Given the description of an element on the screen output the (x, y) to click on. 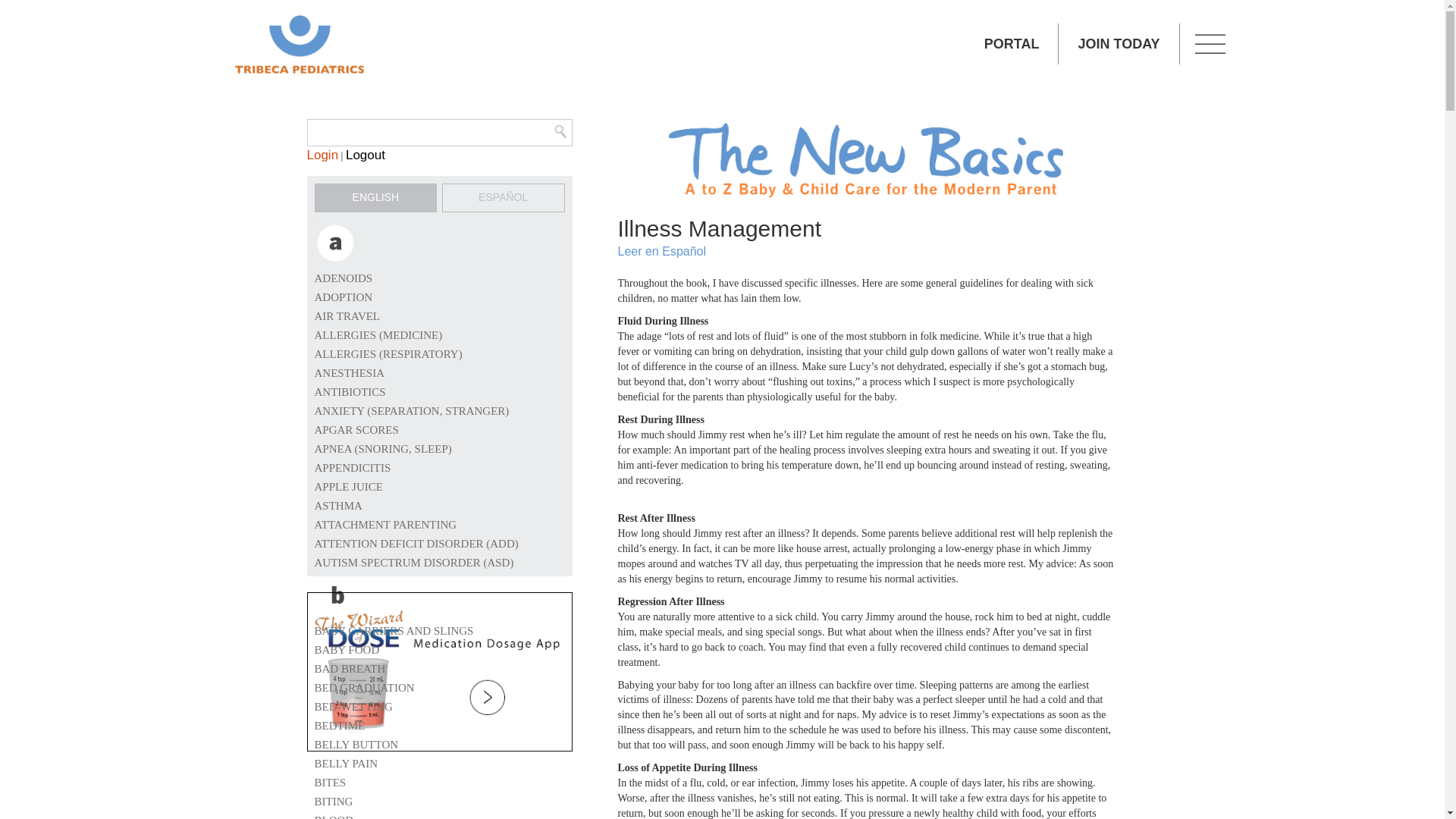
Login (321, 155)
APPENDICITIS (352, 467)
ENGLISH (375, 197)
ANESTHESIA (349, 372)
Tribeca Pediatrics (298, 43)
APGAR SCORES (355, 429)
ANTIBIOTICS (349, 391)
ADOPTION (343, 297)
PORTAL (1012, 43)
AIR TRAVEL (347, 316)
ADENOIDS (343, 277)
Logout (365, 155)
JOIN TODAY (1118, 43)
APPLE JUICE (347, 486)
